Given the description of an element on the screen output the (x, y) to click on. 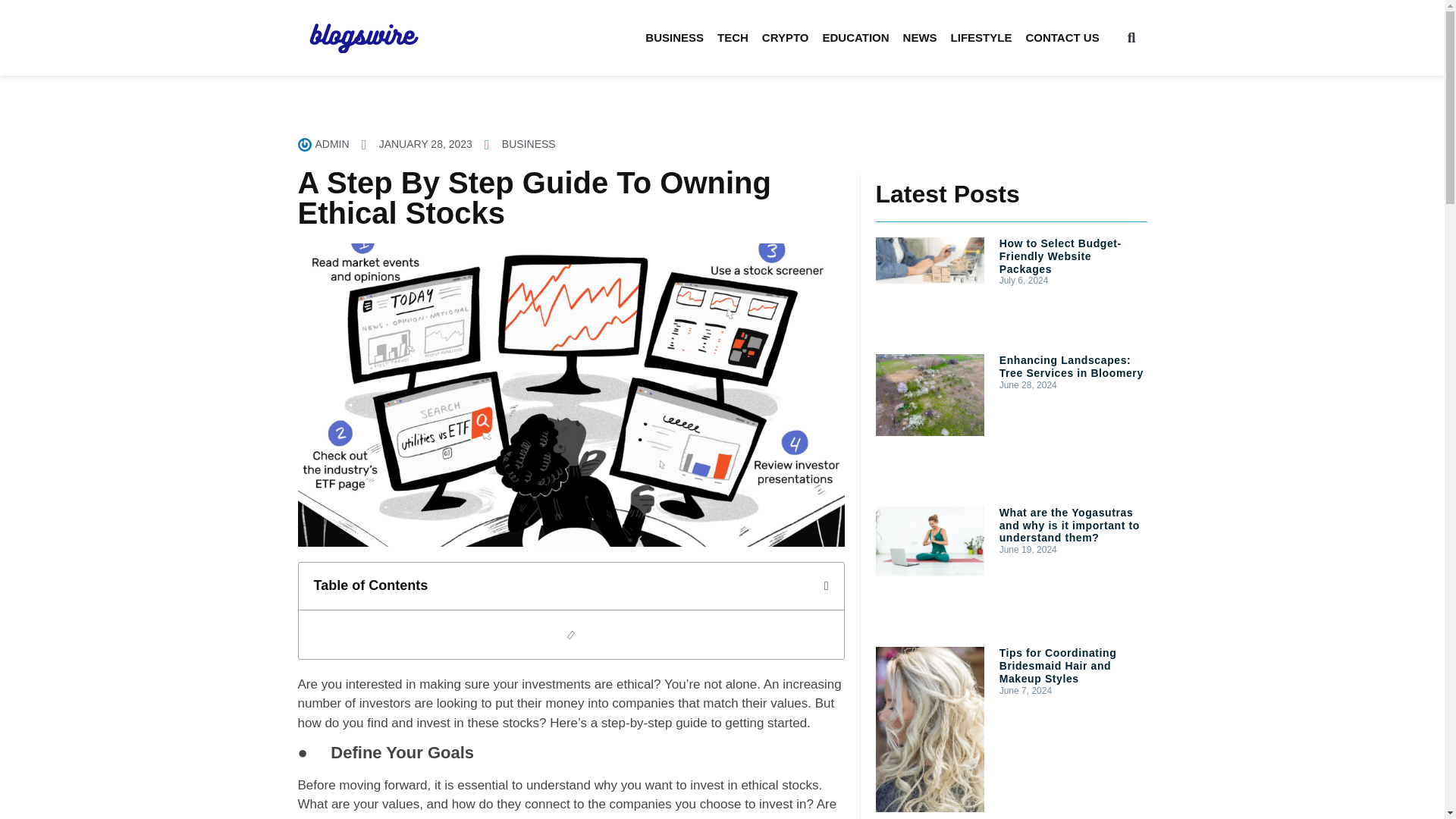
TECH (732, 37)
BUSINESS (674, 37)
Enhancing Landscapes: Tree Services in Bloomery (1070, 366)
How to Select Budget-Friendly Website Packages (1059, 256)
ADMIN (323, 144)
CONTACT US (1062, 37)
LIFESTYLE (981, 37)
EDUCATION (855, 37)
CRYPTO (785, 37)
NEWS (919, 37)
